Given the description of an element on the screen output the (x, y) to click on. 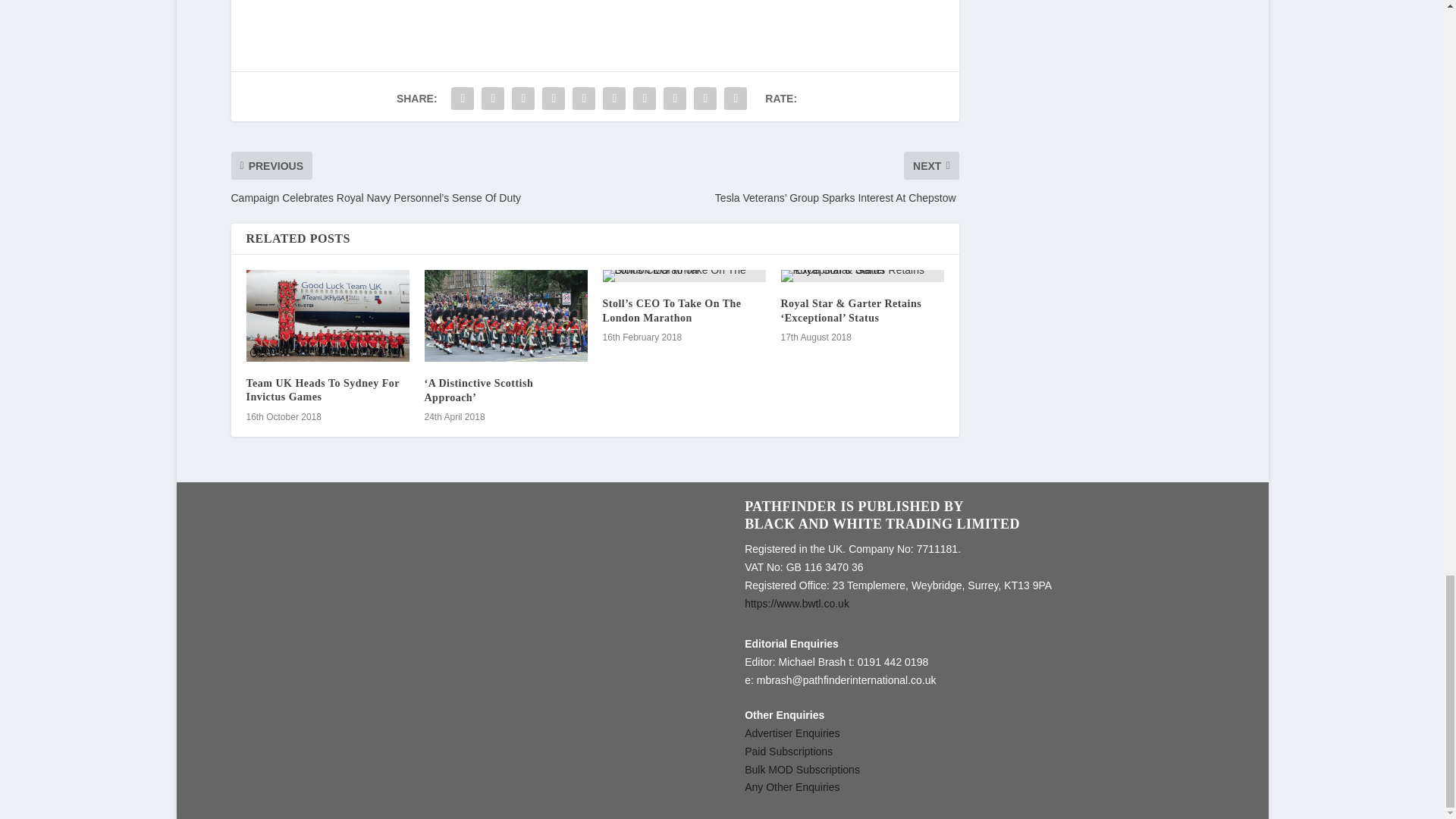
Share "Mitie Celebrates Three Golden Years Of ERS" via Print (735, 98)
Share "Mitie Celebrates Three Golden Years Of ERS" via Email (705, 98)
